Given the description of an element on the screen output the (x, y) to click on. 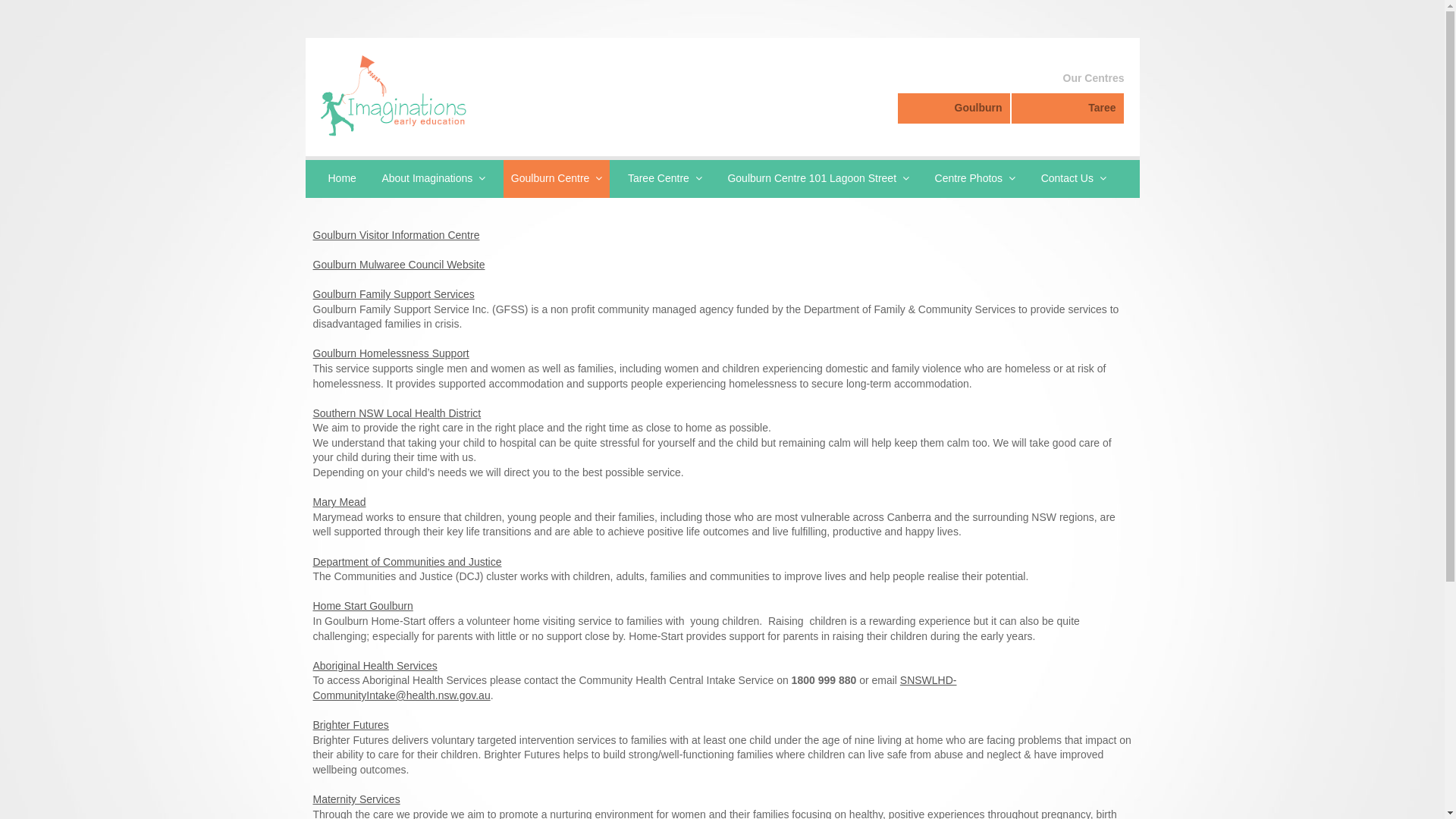
Goulburn Element type: text (953, 108)
Goulburn Centre Element type: text (556, 178)
Home Start Goulburn Element type: text (362, 605)
Goulburn Family Support Services Element type: text (392, 294)
Southern NSW Local Health District Element type: text (396, 413)
Department of Communities and Justice Element type: text (406, 561)
Goulburn Visitor Information Centre Element type: text (395, 235)
Mary Mead Element type: text (338, 501)
Maternity Services Element type: text (355, 799)
SNSWLHD-CommunityIntake@health.nsw.gov.au Element type: text (634, 687)
Home Element type: text (341, 178)
Taree Element type: text (1067, 108)
Goulburn Mulwaree Council Website Element type: text (398, 264)
Taree Centre Element type: text (664, 178)
About Imaginations Element type: text (432, 178)
Goulburn Centre 101 Lagoon Street Element type: text (817, 178)
Goulburn Homelessness Support Element type: text (390, 353)
Brighter Futures Element type: text (350, 724)
Centre Photos Element type: text (975, 178)
Contact Us Element type: text (1073, 178)
Aboriginal Health Services Element type: text (374, 665)
